Given the description of an element on the screen output the (x, y) to click on. 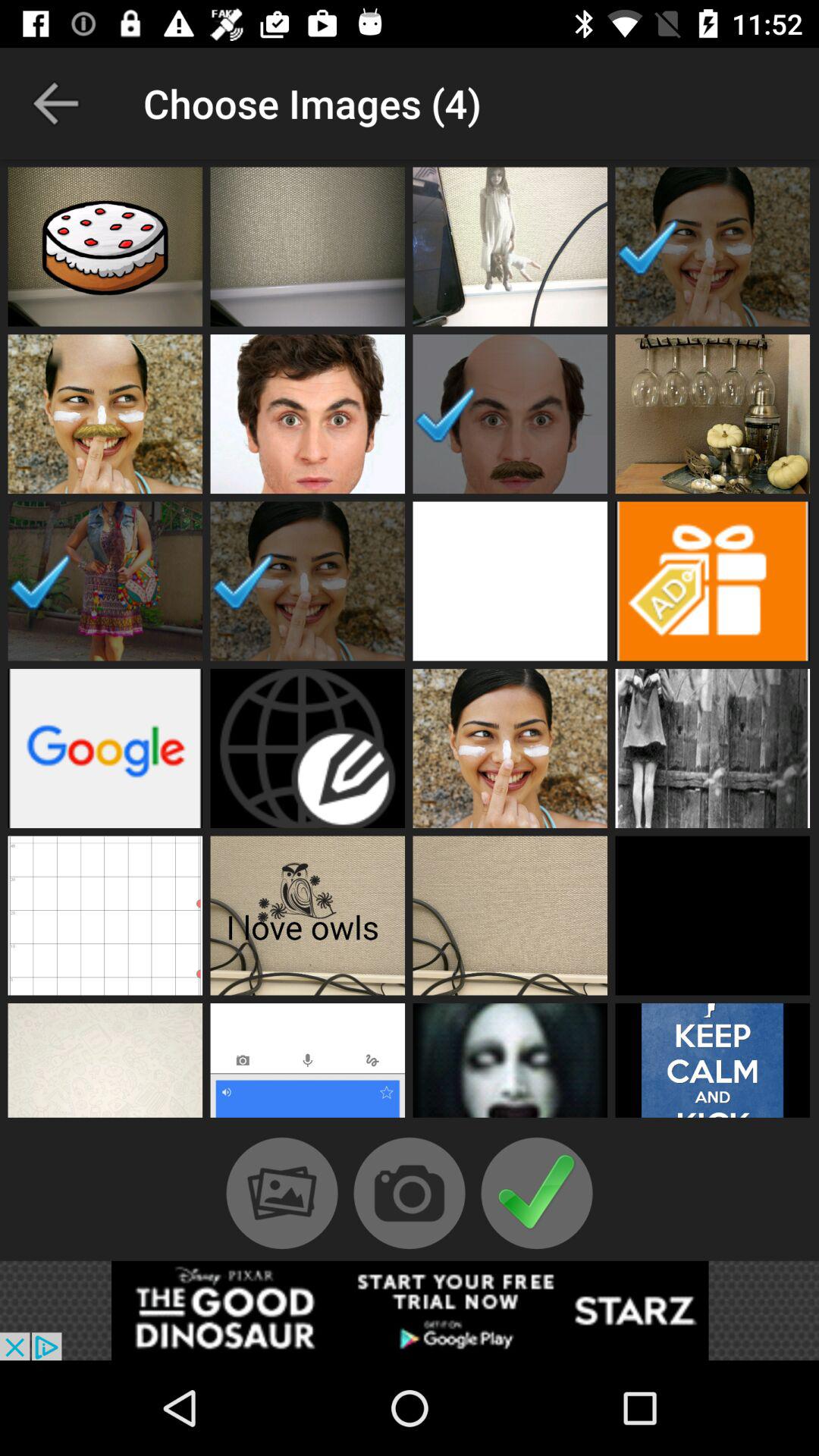
advertisement (712, 580)
